Given the description of an element on the screen output the (x, y) to click on. 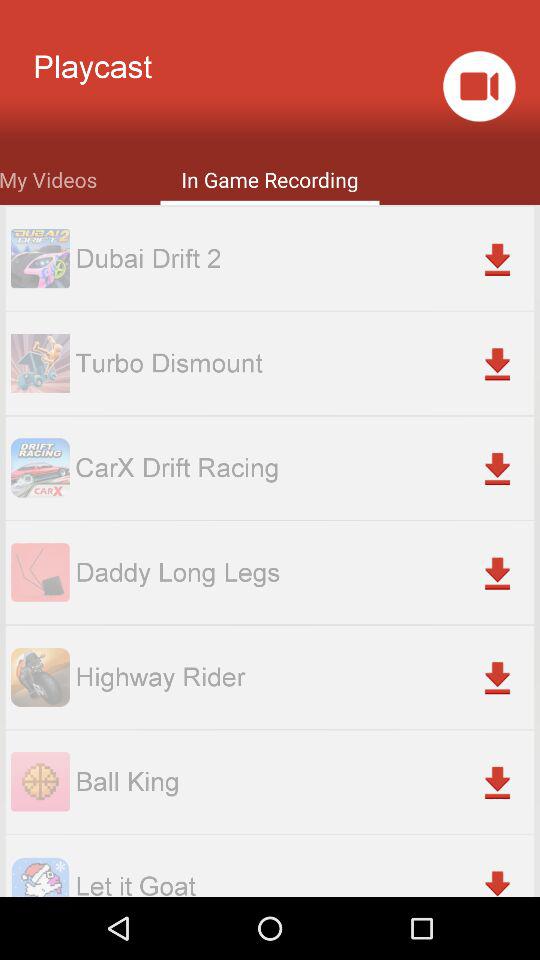
open dubai drift 2 (304, 258)
